Given the description of an element on the screen output the (x, y) to click on. 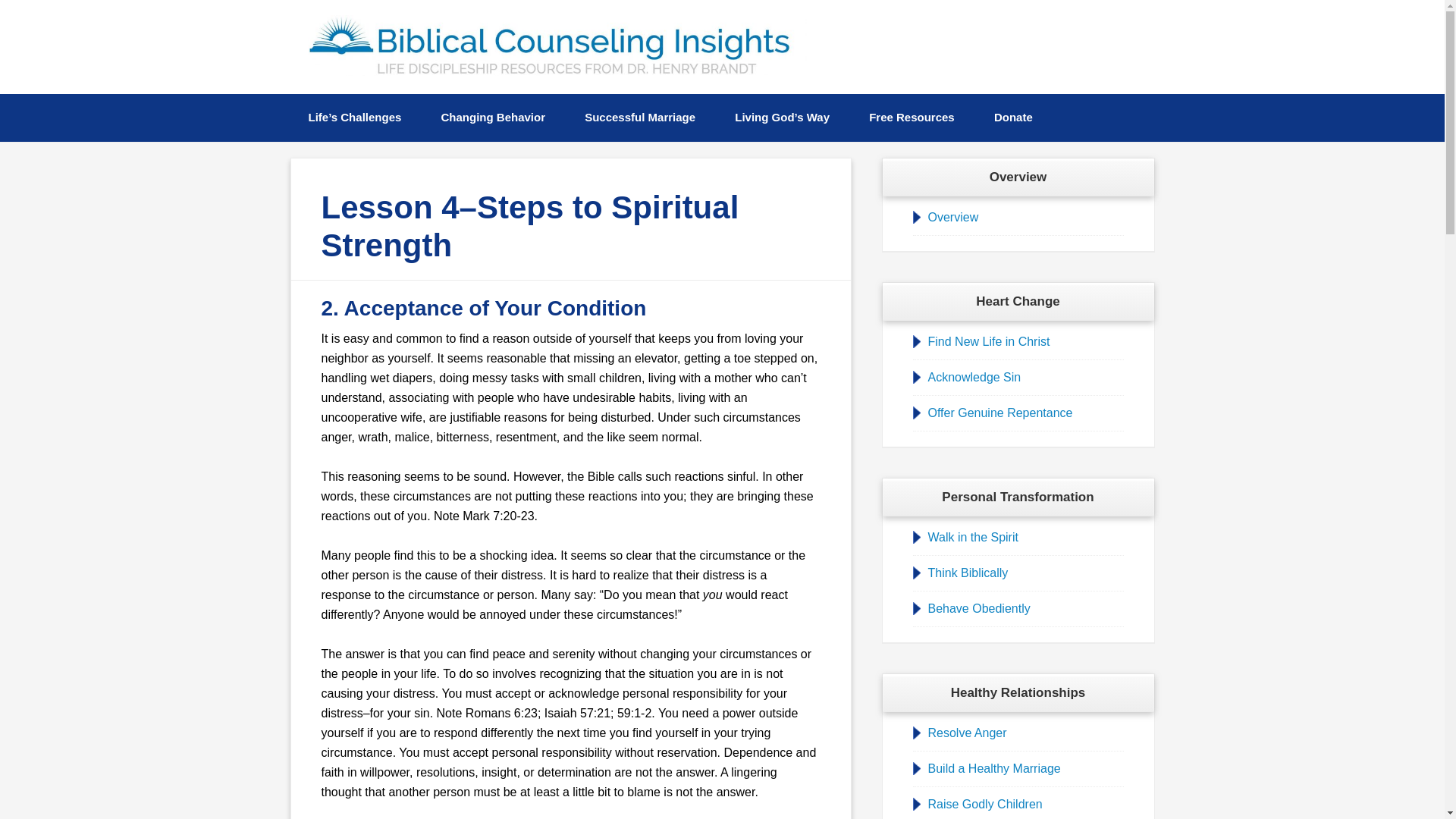
Successful Marriage (639, 117)
Biblical Counseling Insights (551, 45)
Changing Behavior (492, 117)
